Given the description of an element on the screen output the (x, y) to click on. 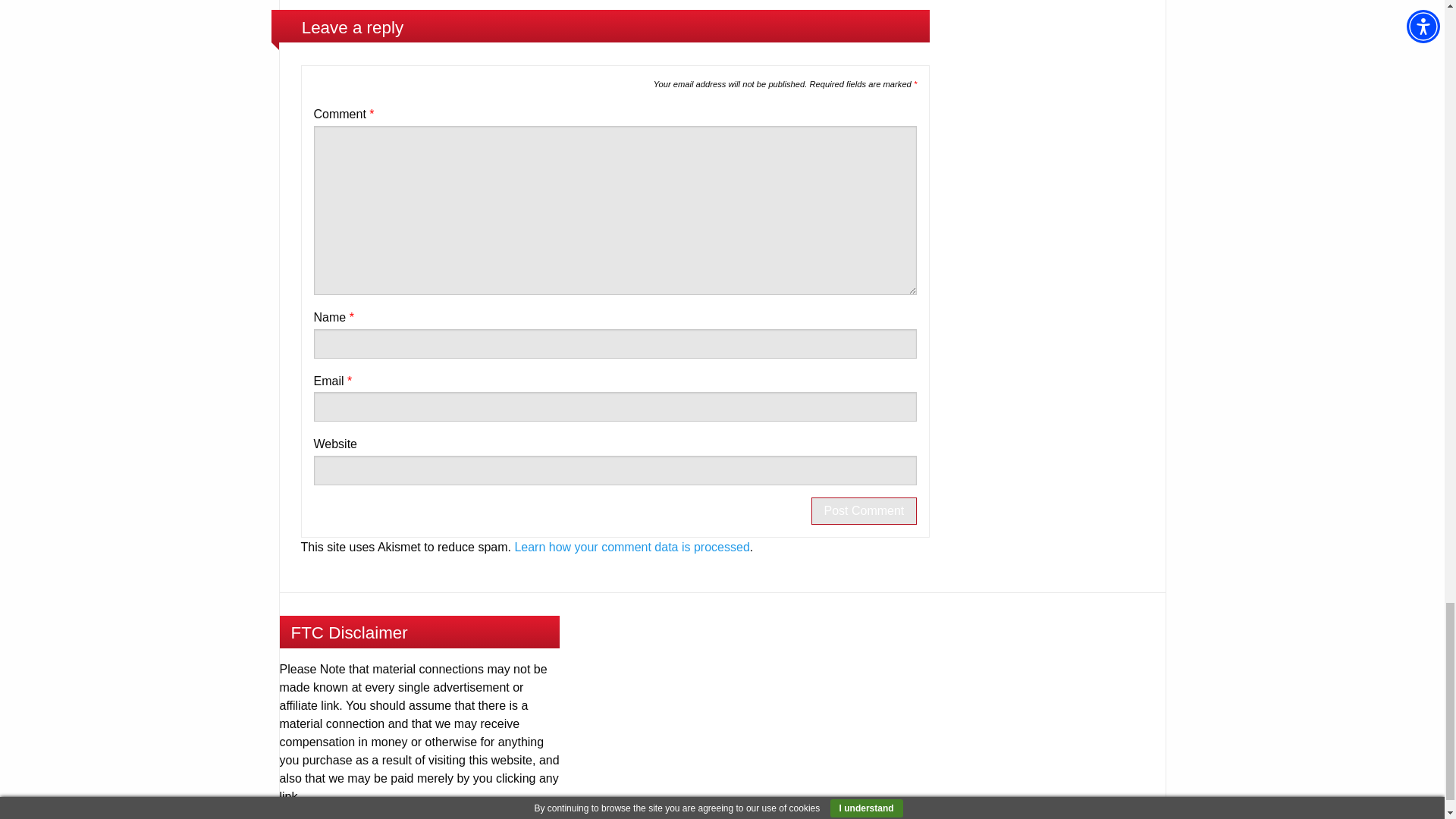
Post Comment (863, 510)
Post Comment (863, 510)
Learn how your comment data is processed (631, 546)
